Given the description of an element on the screen output the (x, y) to click on. 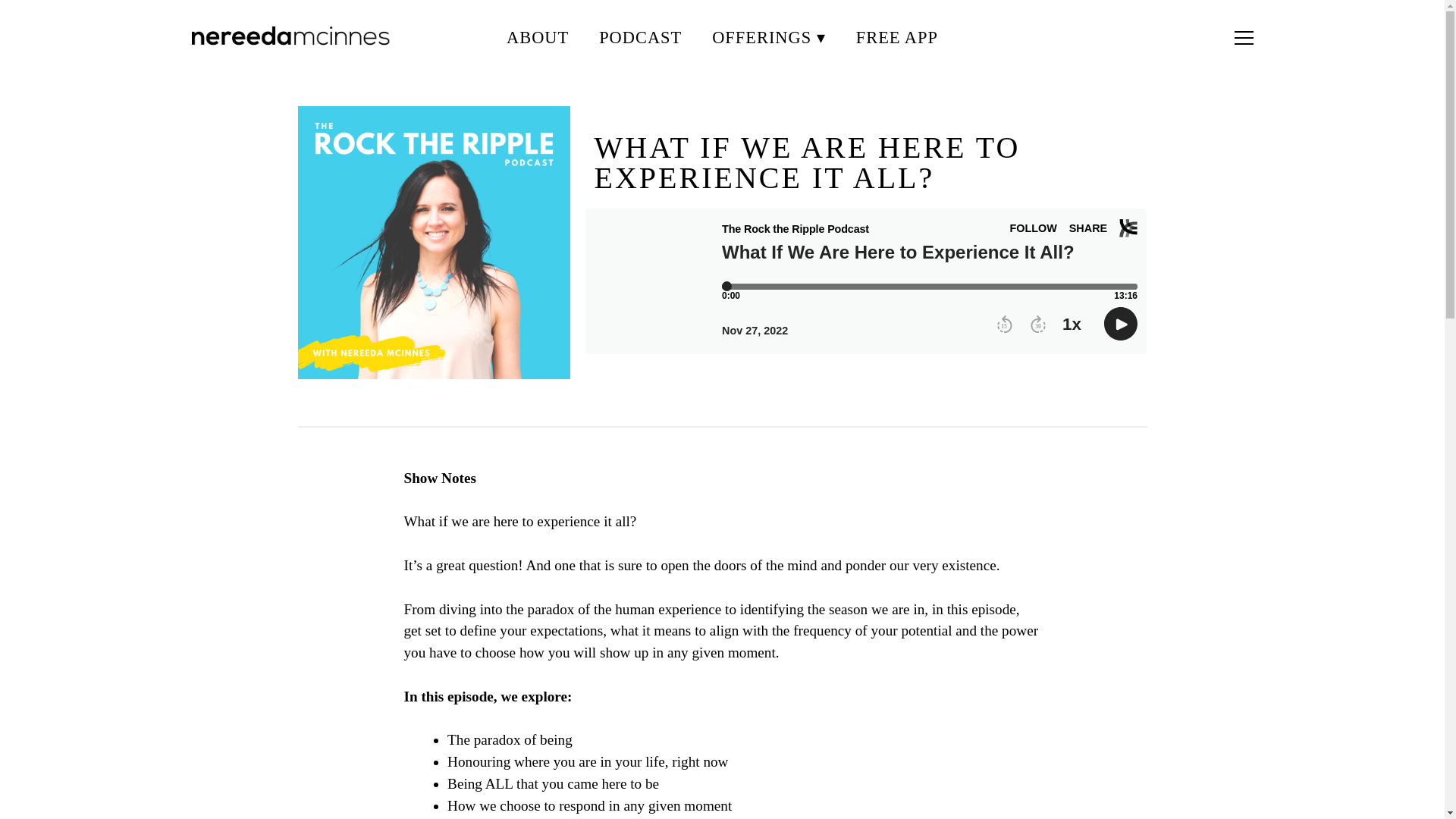
FREE APP (896, 37)
NEREEDA MCINNES (258, 77)
ABOUT (537, 37)
PODCAST (639, 37)
Embed Player (866, 280)
